Given the description of an element on the screen output the (x, y) to click on. 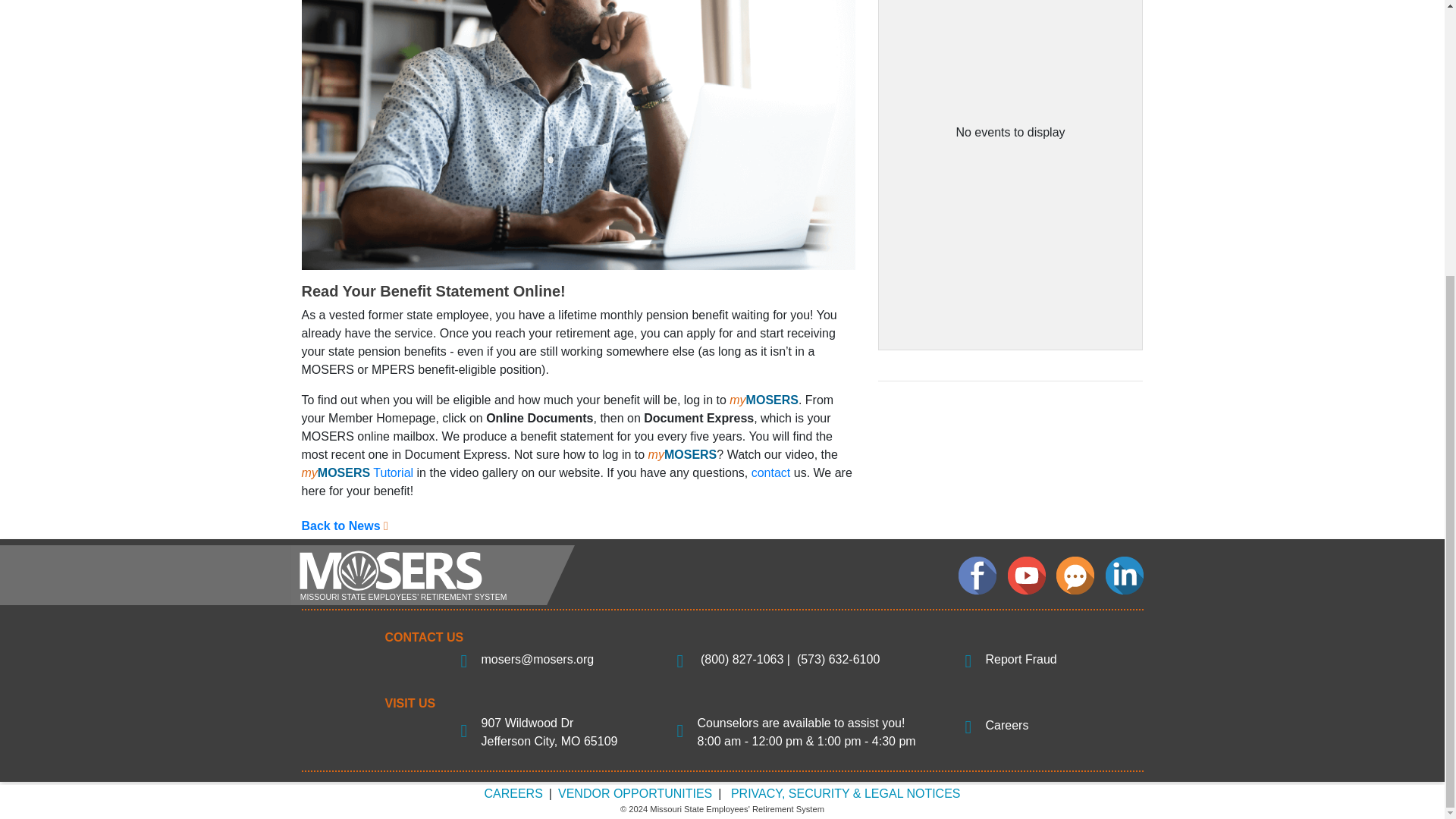
Rumor Central Blog (1075, 575)
MOSERS Linkedin (1123, 575)
footer-logo (431, 575)
MOSERS Facebook (976, 575)
footer-logo (431, 574)
MOSERS You-Tube (1026, 575)
